Given the description of an element on the screen output the (x, y) to click on. 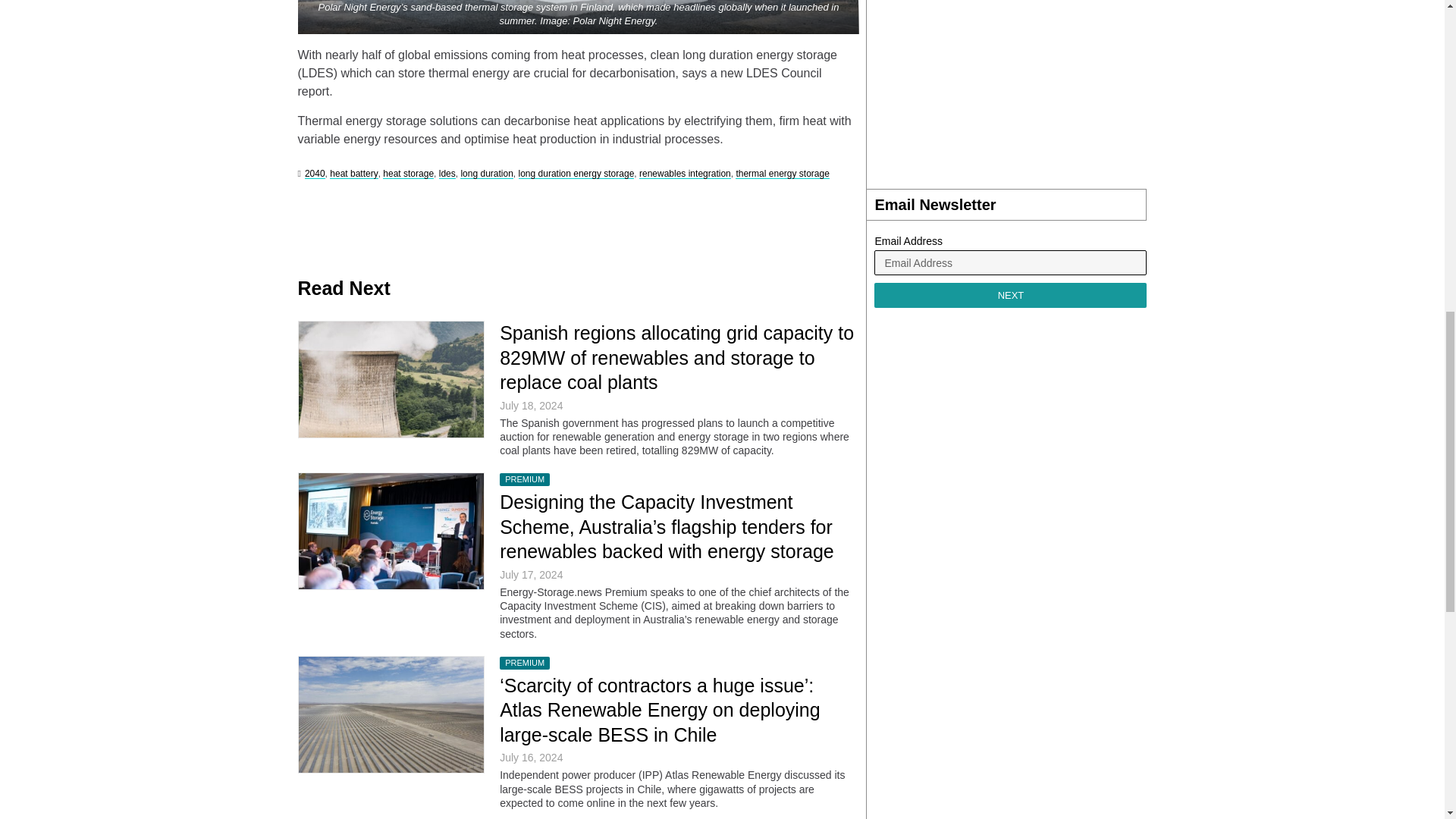
3rd party ad content (1011, 86)
3rd party ad content (572, 222)
Sol del Desierto PV Atlas Renewable Chile (390, 714)
Narcea coal plant (390, 379)
